Given the description of an element on the screen output the (x, y) to click on. 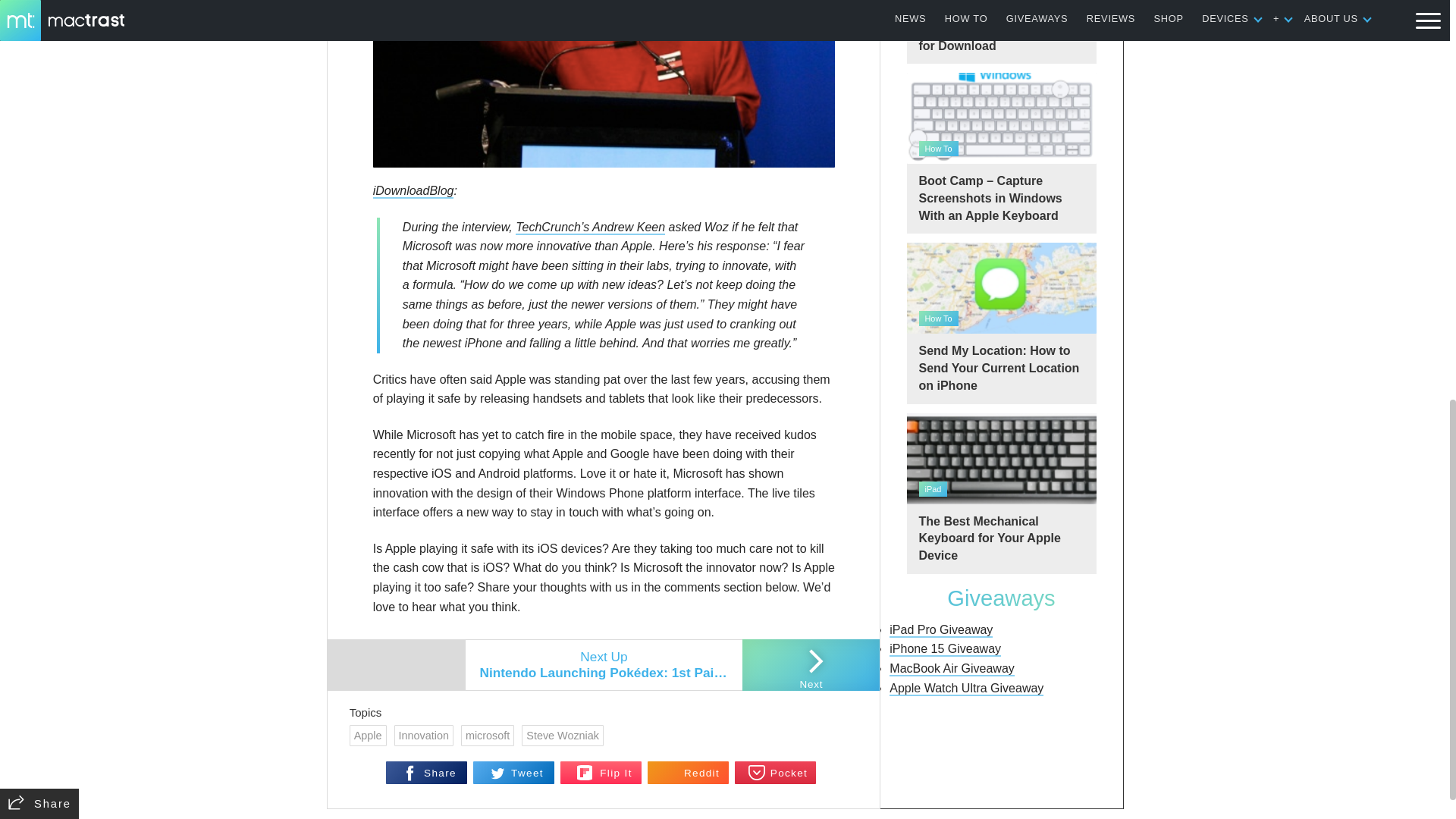
Share on Facebook (426, 772)
Steve-Wozniak.jpg (603, 83)
Share on Reddit (688, 772)
Tweet (513, 772)
